Given the description of an element on the screen output the (x, y) to click on. 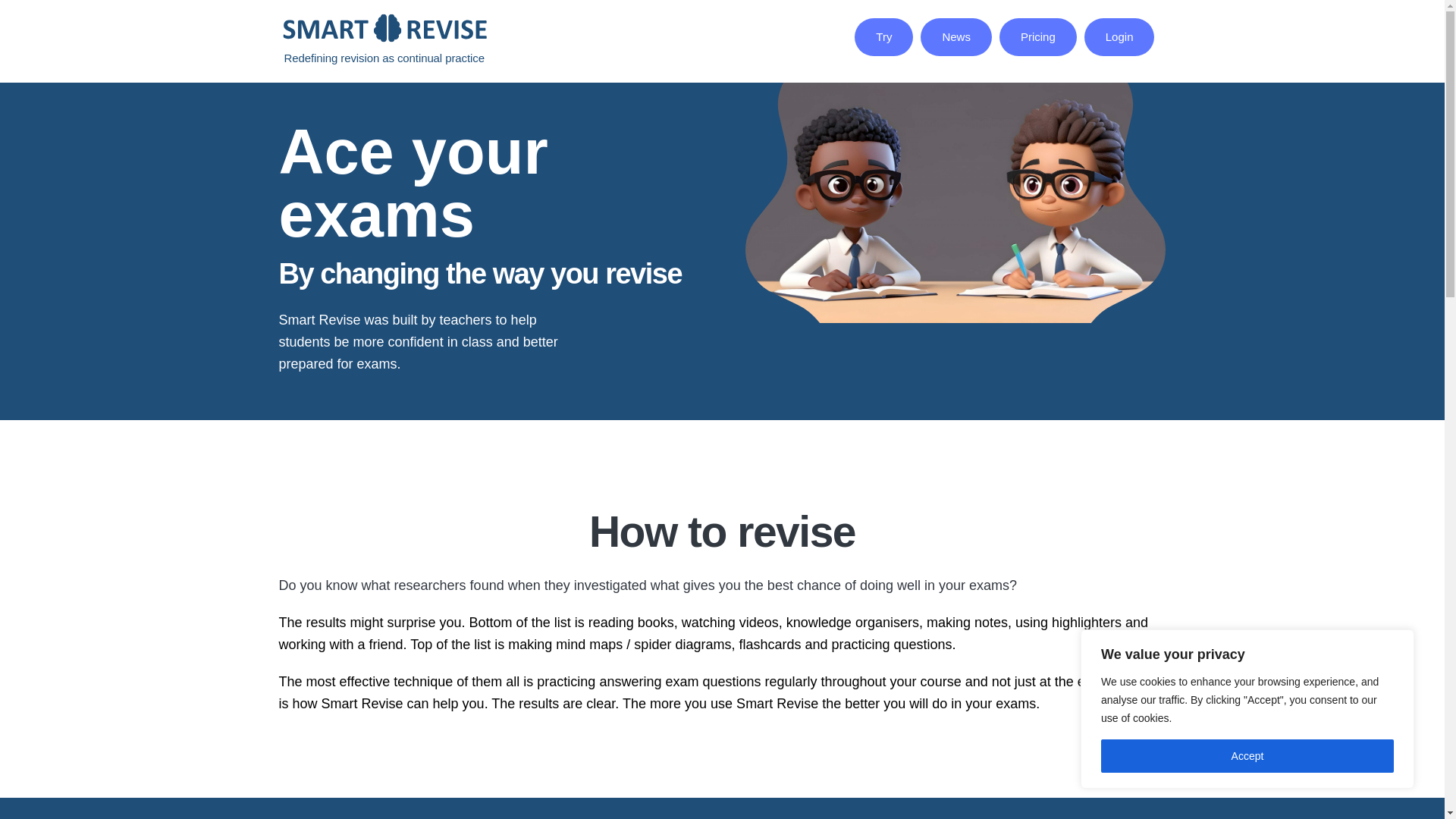
Login (1119, 37)
Pricing (1037, 37)
Accept (1246, 756)
Try (883, 37)
News (955, 37)
